Given the description of an element on the screen output the (x, y) to click on. 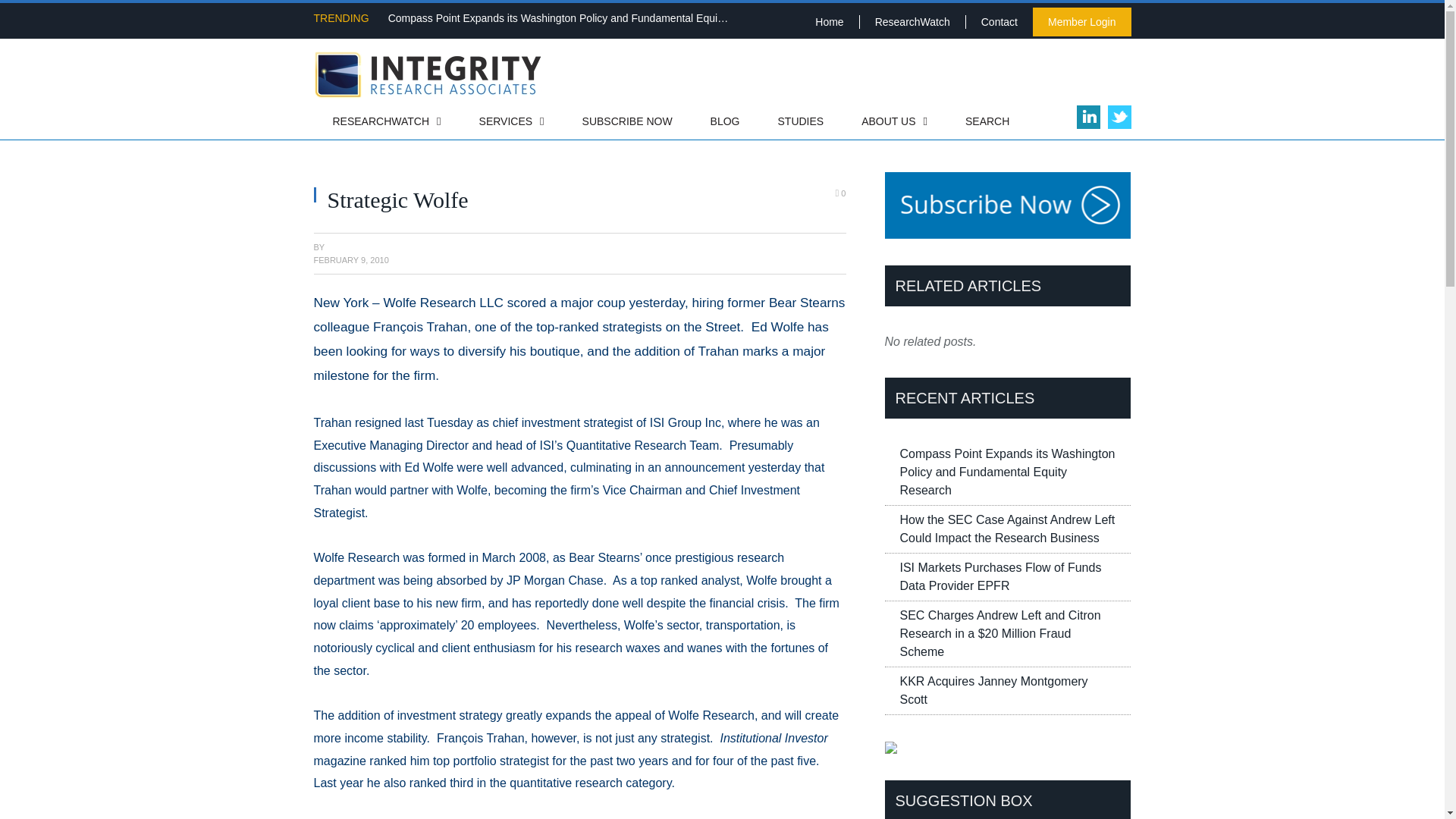
Home (829, 21)
Integrity Research (427, 71)
SUBSCRIBE NOW (627, 122)
RESEARCHWATCH (387, 122)
ABOUT US (894, 122)
Contact (999, 21)
Member Login (1081, 21)
STUDIES (800, 122)
